Given the description of an element on the screen output the (x, y) to click on. 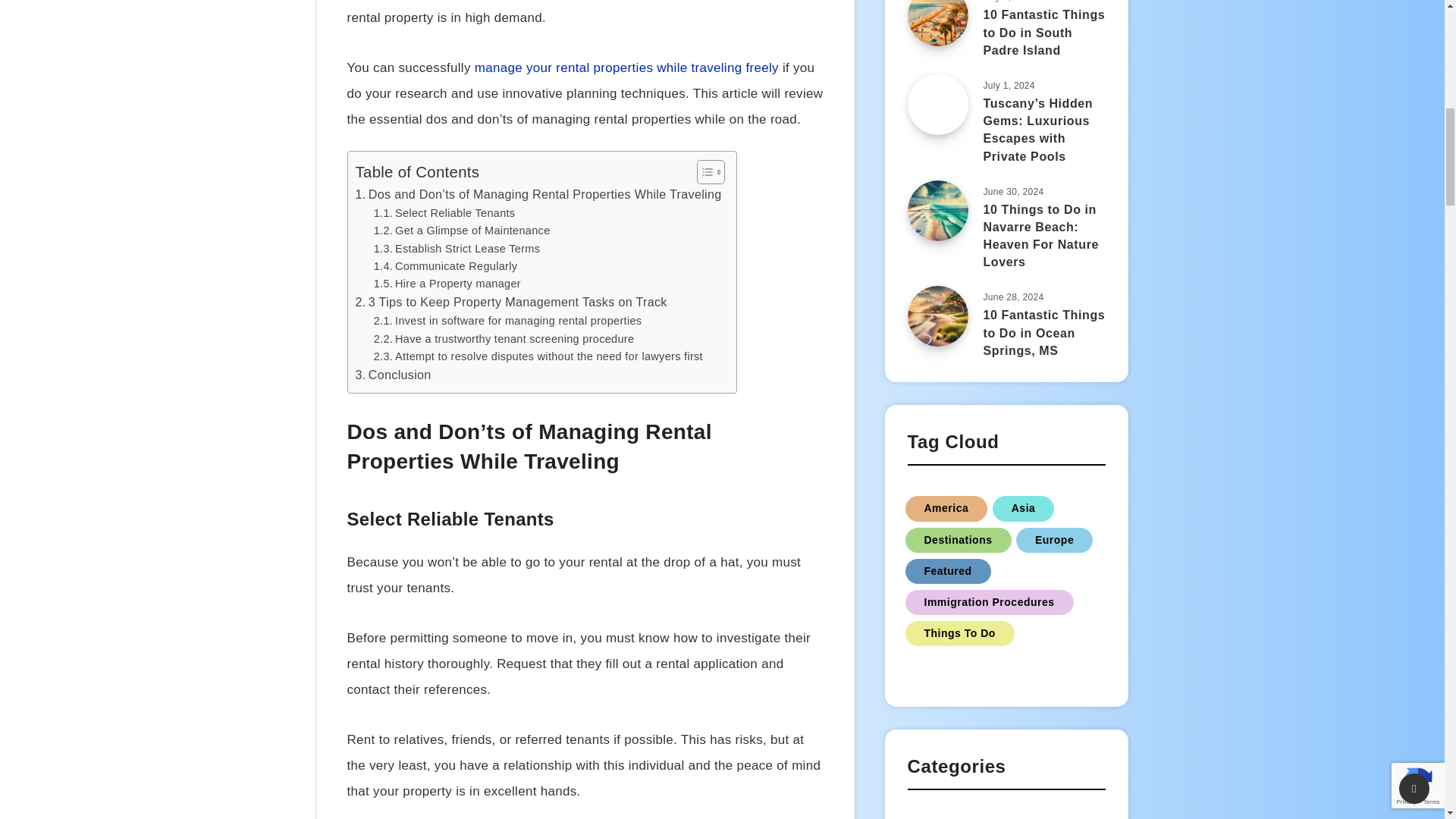
Conclusion (392, 374)
3 Tips to Keep Property Management Tasks on Track (510, 302)
Conclusion (392, 374)
Hire a Property manager (447, 283)
manage your rental properties while traveling freely (626, 67)
Get a Glimpse of Maintenance (462, 230)
Invest in software for managing rental properties (508, 321)
Have a trustworthy tenant screening procedure (504, 339)
Invest in software for managing rental properties (508, 321)
Select Reliable Tenants (444, 212)
Establish Strict Lease Terms (457, 248)
Hire a Property manager (447, 283)
Communicate Regularly (446, 266)
Communicate Regularly (446, 266)
